Given the description of an element on the screen output the (x, y) to click on. 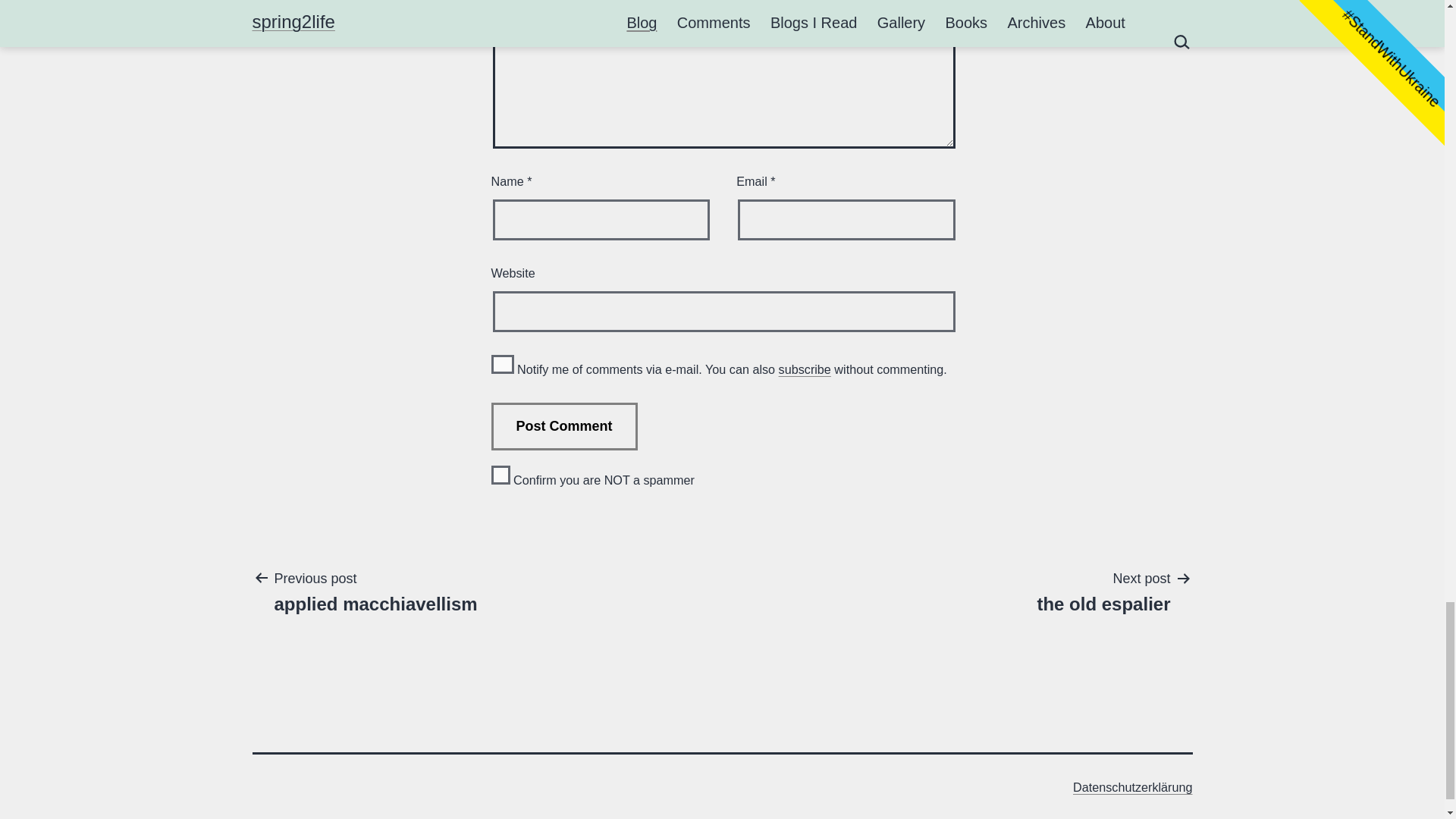
on (375, 591)
yes (501, 475)
subscribe (502, 363)
Post Comment (804, 368)
Post Comment (1103, 591)
